Given the description of an element on the screen output the (x, y) to click on. 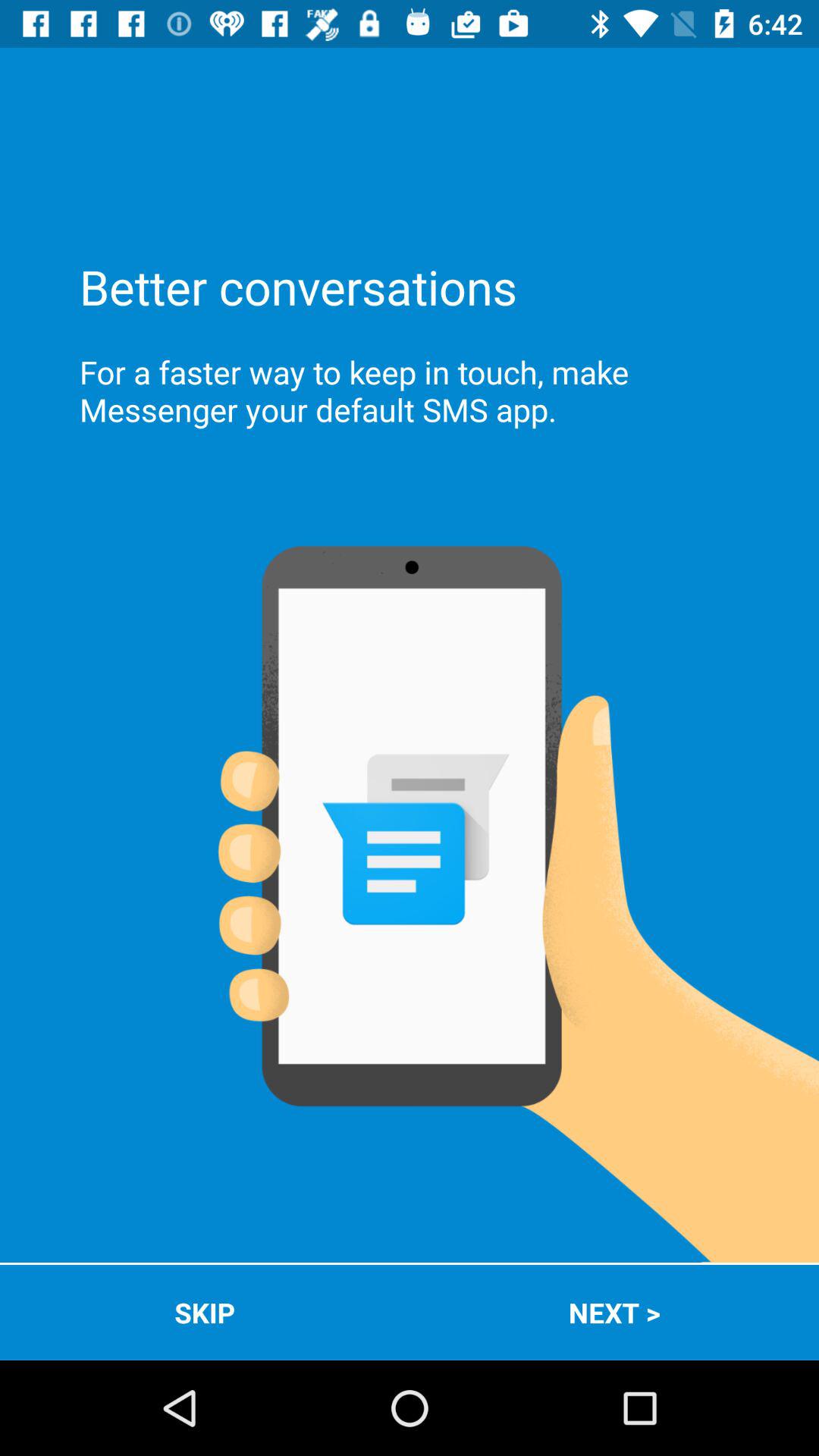
tap the icon to the left of the next > app (204, 1312)
